Given the description of an element on the screen output the (x, y) to click on. 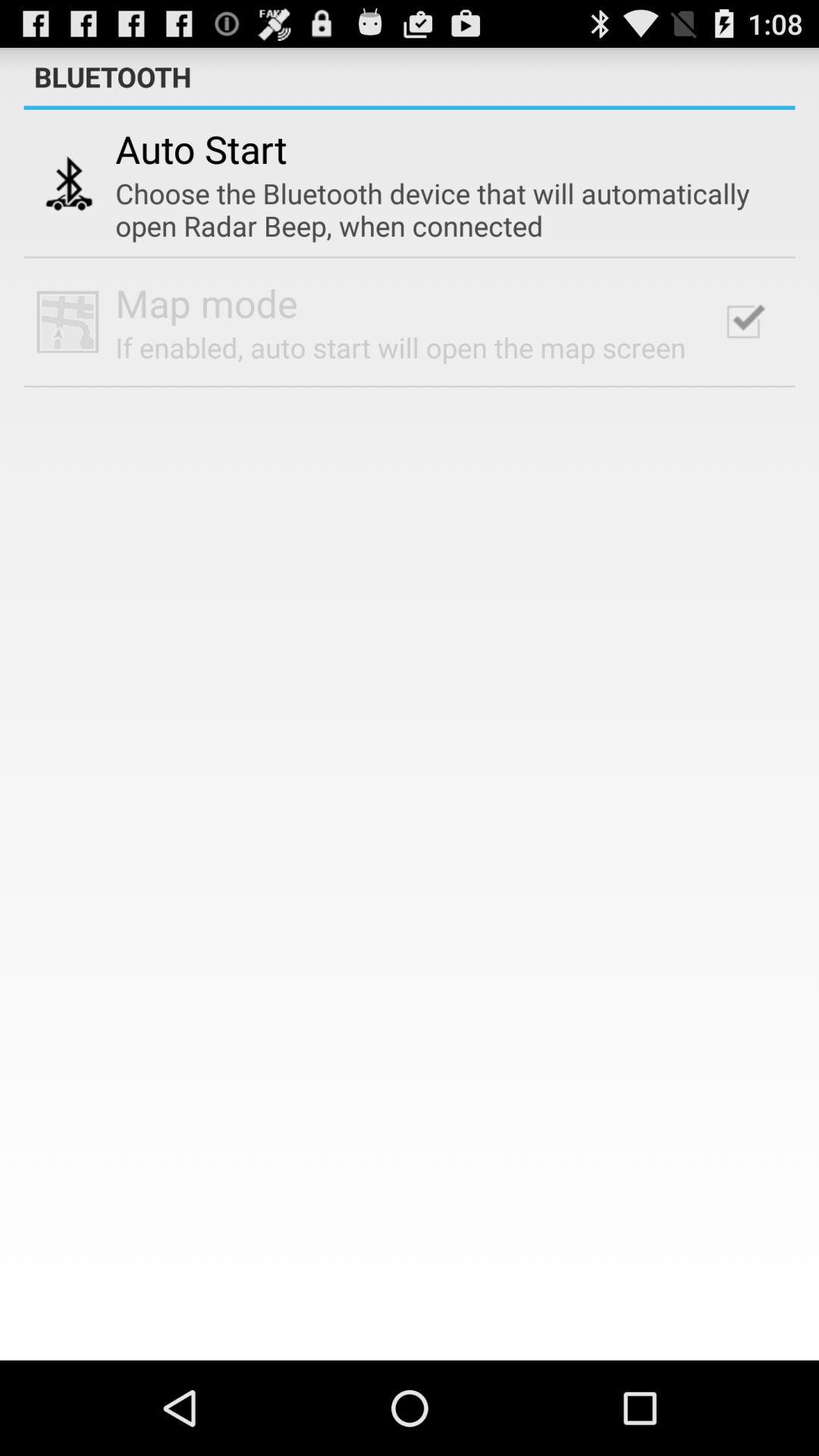
turn off the icon below the bluetooth app (409, 107)
